Given the description of an element on the screen output the (x, y) to click on. 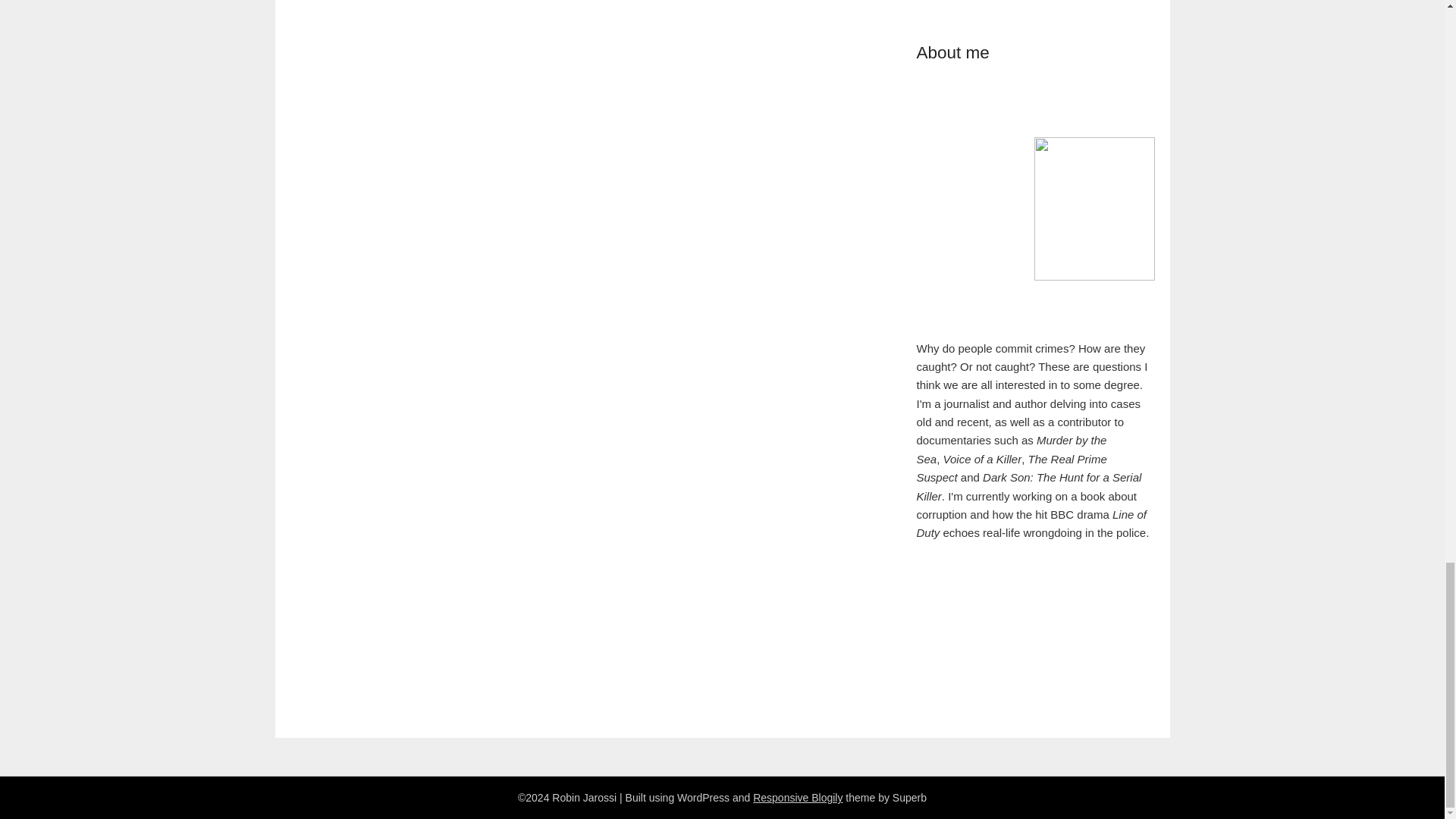
Responsive Blogily (797, 797)
